Given the description of an element on the screen output the (x, y) to click on. 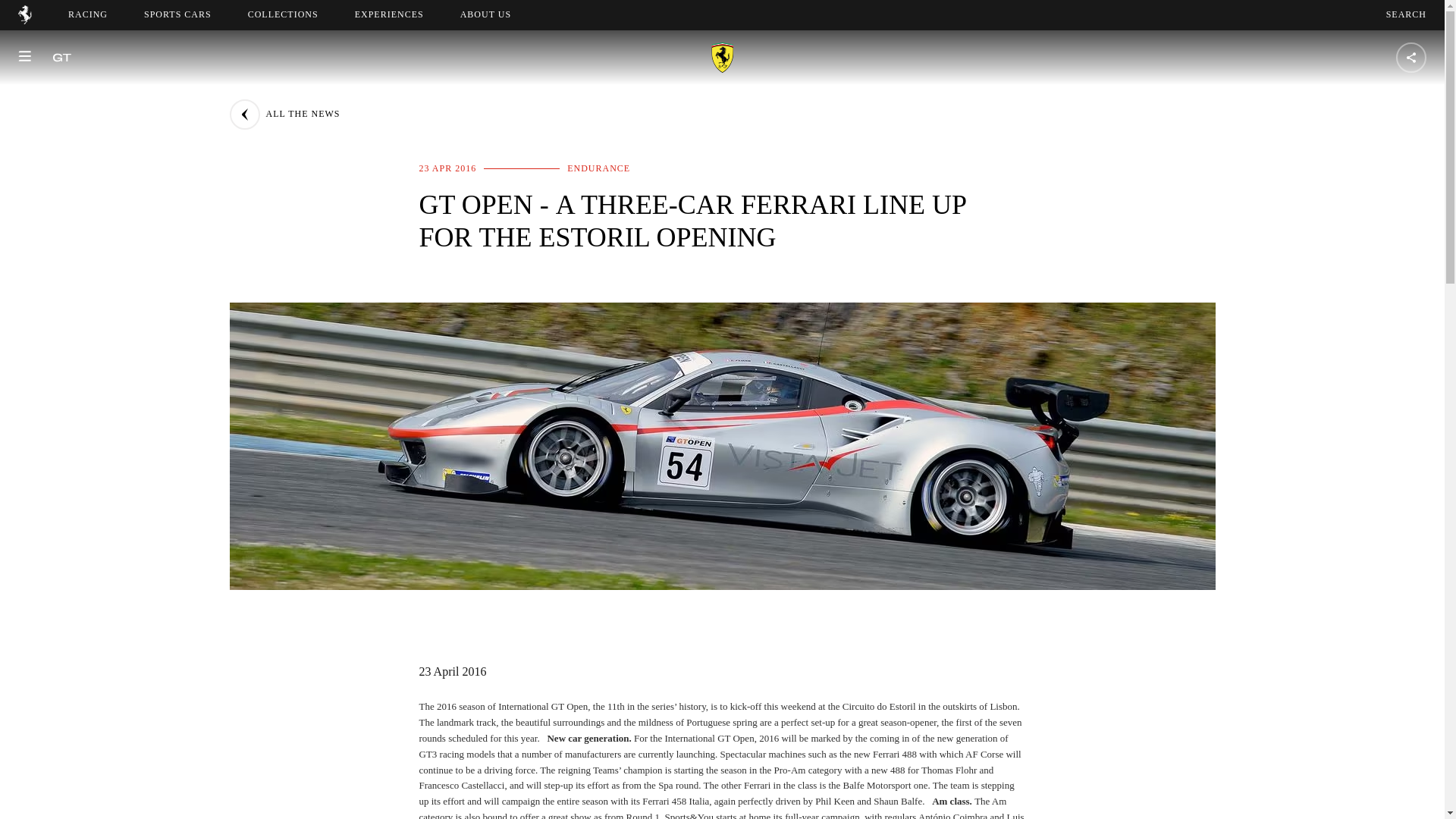
SEARCH (1406, 14)
EXPERIENCES (389, 14)
ALL THE NEWS (283, 114)
COLLECTIONS (282, 14)
RACING (87, 14)
Ferrari logo (24, 19)
ABOUT US (499, 14)
SPORTS CARS (485, 14)
